Given the description of an element on the screen output the (x, y) to click on. 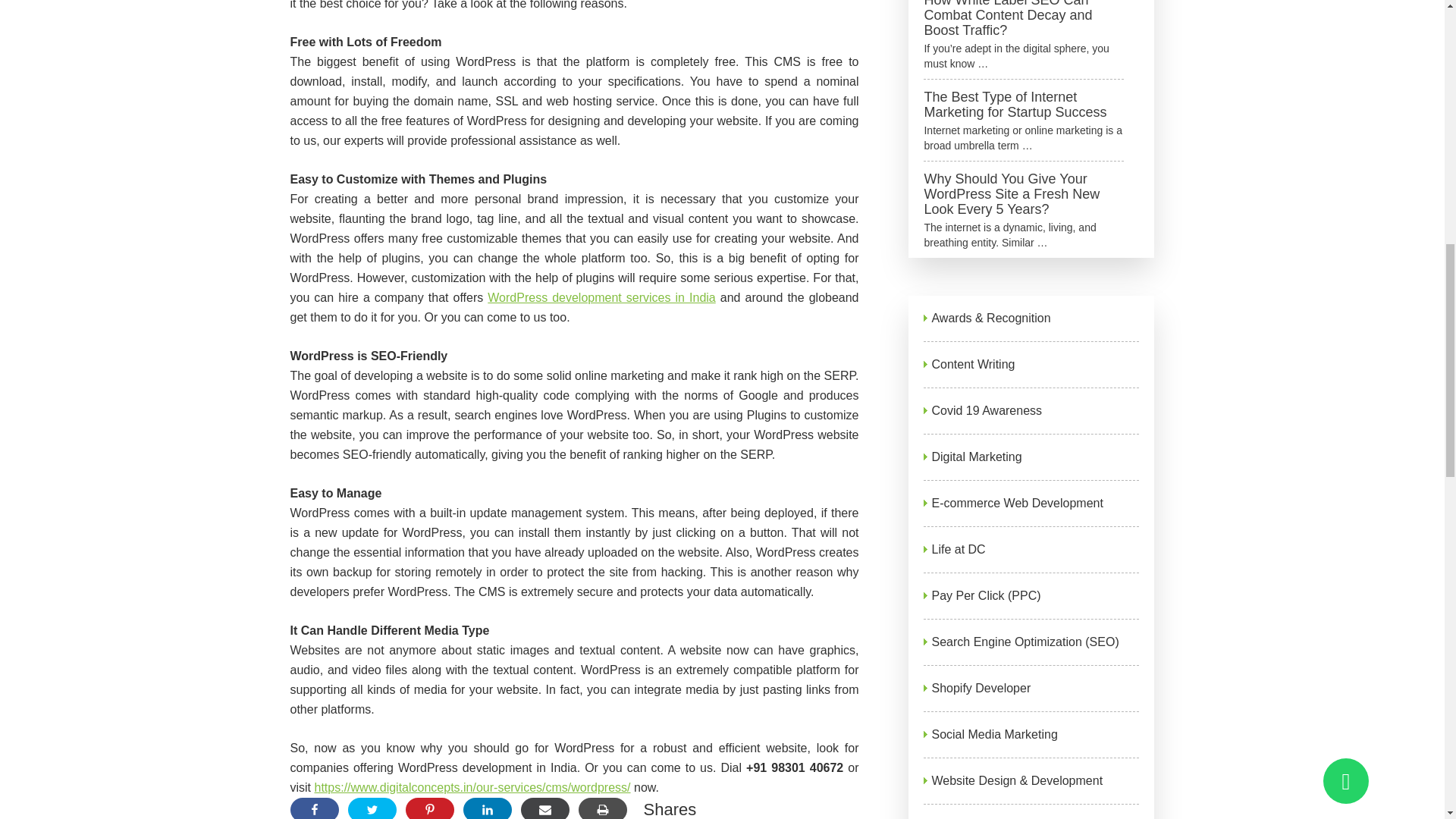
Share on Pinterest (428, 808)
Share on Facebook (313, 808)
Share via Email (544, 808)
Share on Twitter (371, 808)
Share on LinkedIn (487, 808)
Print this Page (602, 808)
